Given the description of an element on the screen output the (x, y) to click on. 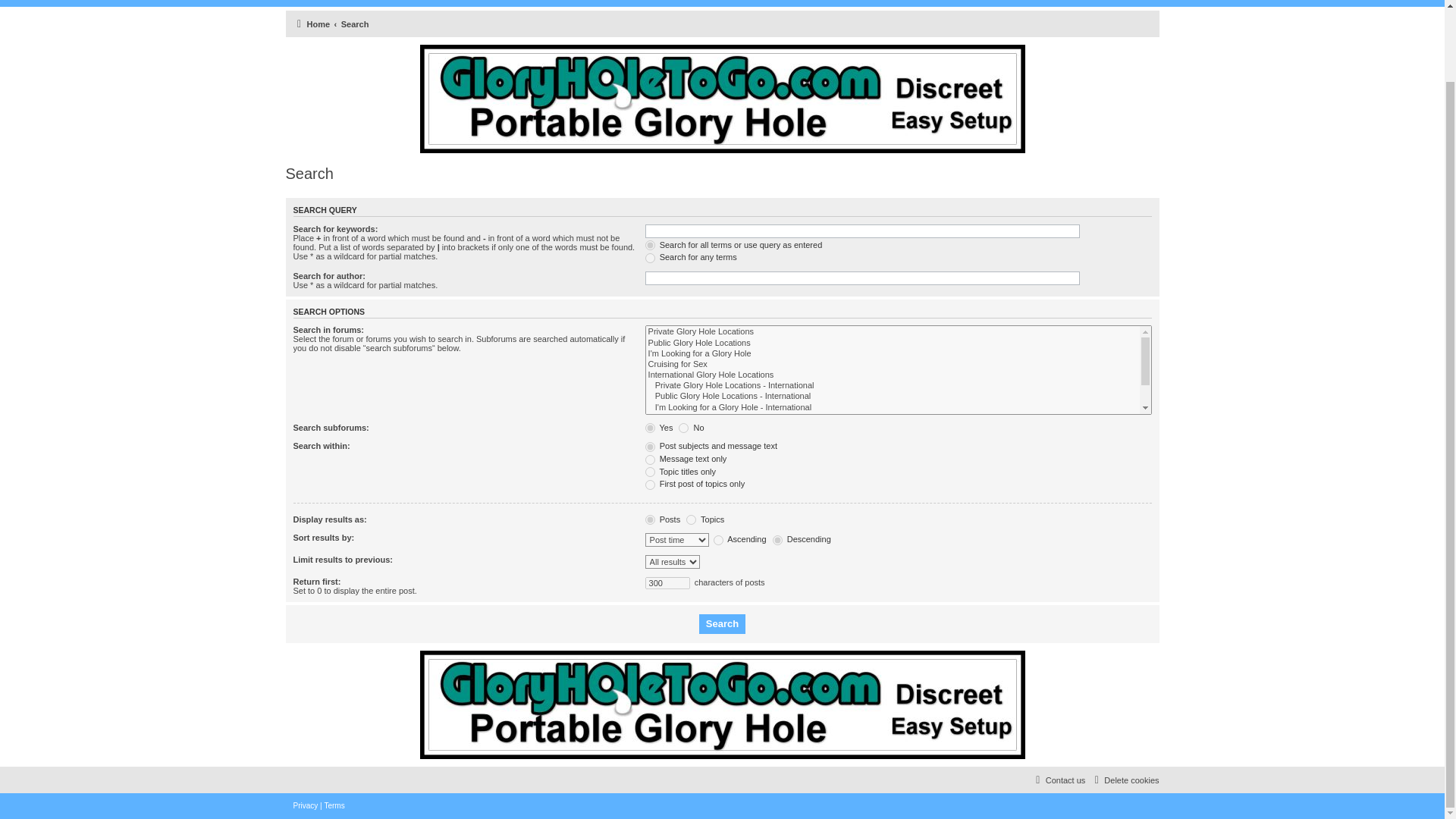
Search (354, 24)
titleonly (650, 471)
topics (690, 519)
a (718, 540)
d (778, 540)
Privacy (304, 805)
300 (667, 582)
Home (311, 24)
any (650, 257)
all (650, 245)
Home (311, 24)
msgonly (650, 460)
Return first (667, 582)
Terms (333, 805)
Privacy (304, 805)
